Given the description of an element on the screen output the (x, y) to click on. 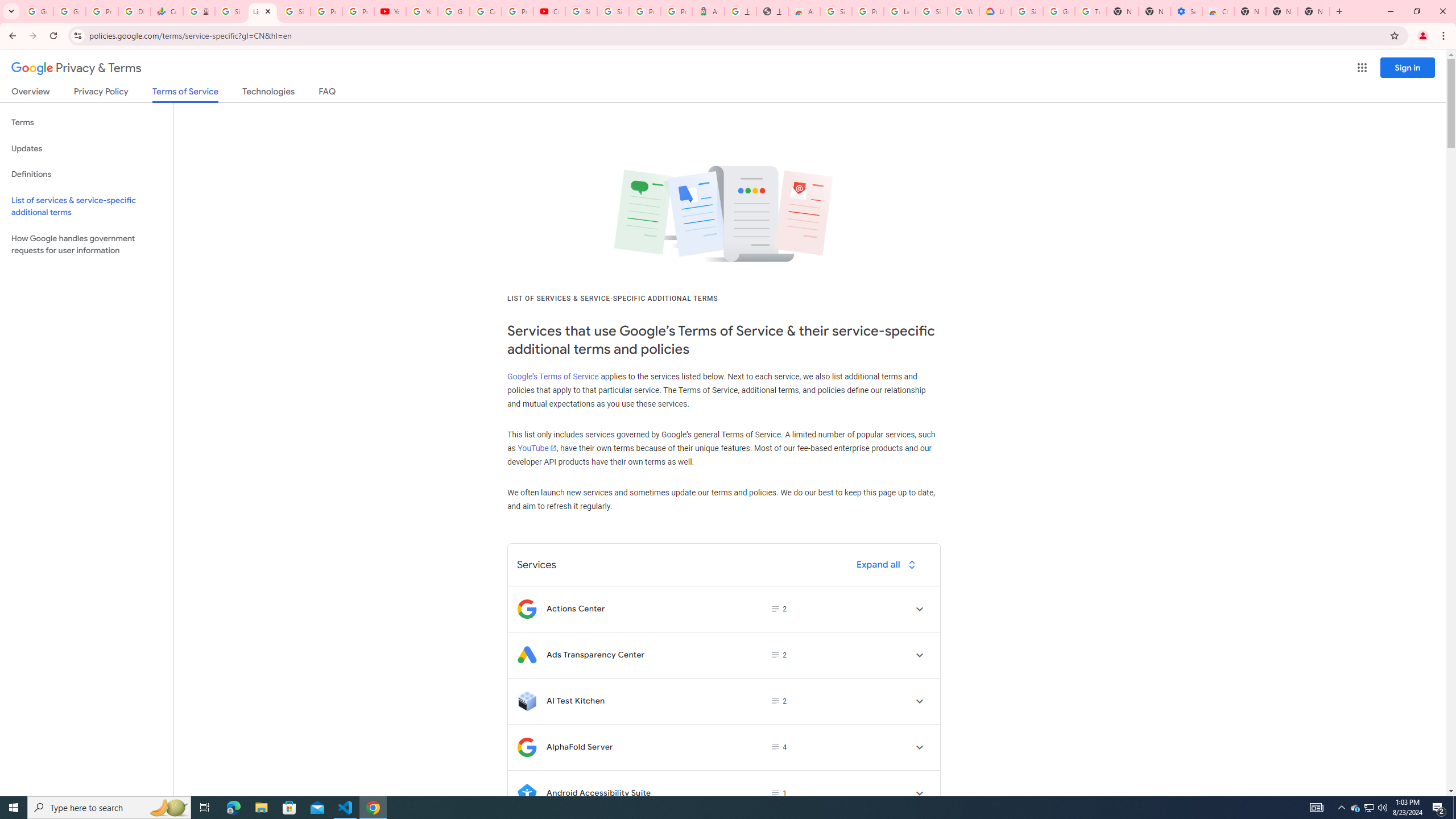
New Tab (1313, 11)
Expand all (888, 564)
